Given the description of an element on the screen output the (x, y) to click on. 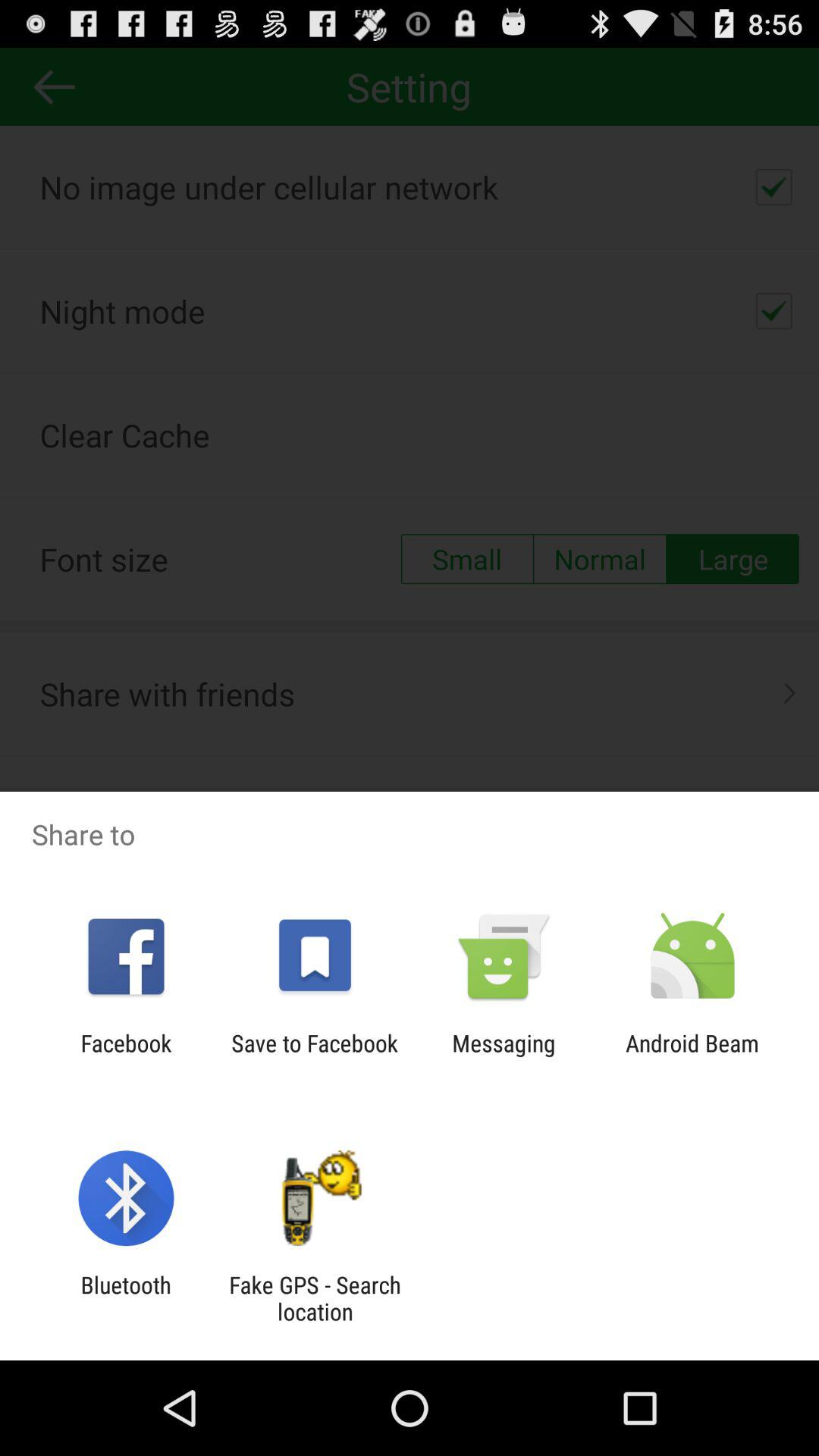
press item to the left of the messaging (314, 1056)
